Given the description of an element on the screen output the (x, y) to click on. 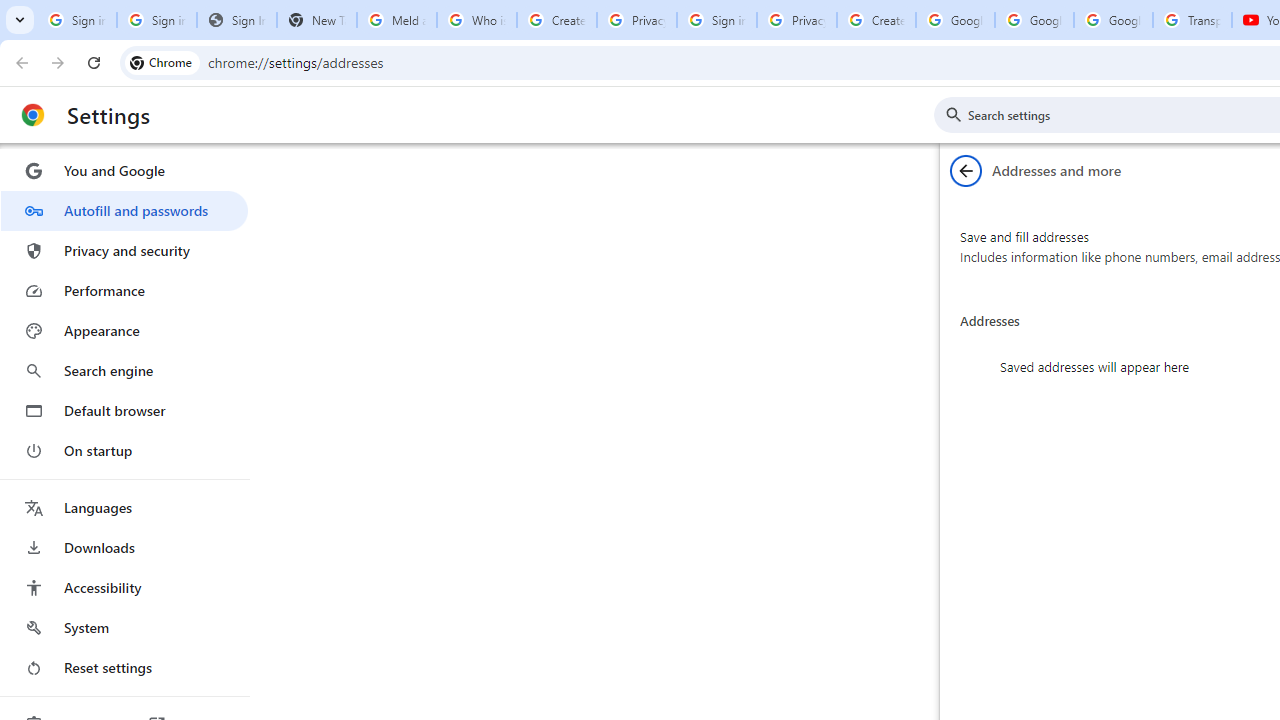
Sign In - USA TODAY (236, 20)
Sign in - Google Accounts (156, 20)
